Given the description of an element on the screen output the (x, y) to click on. 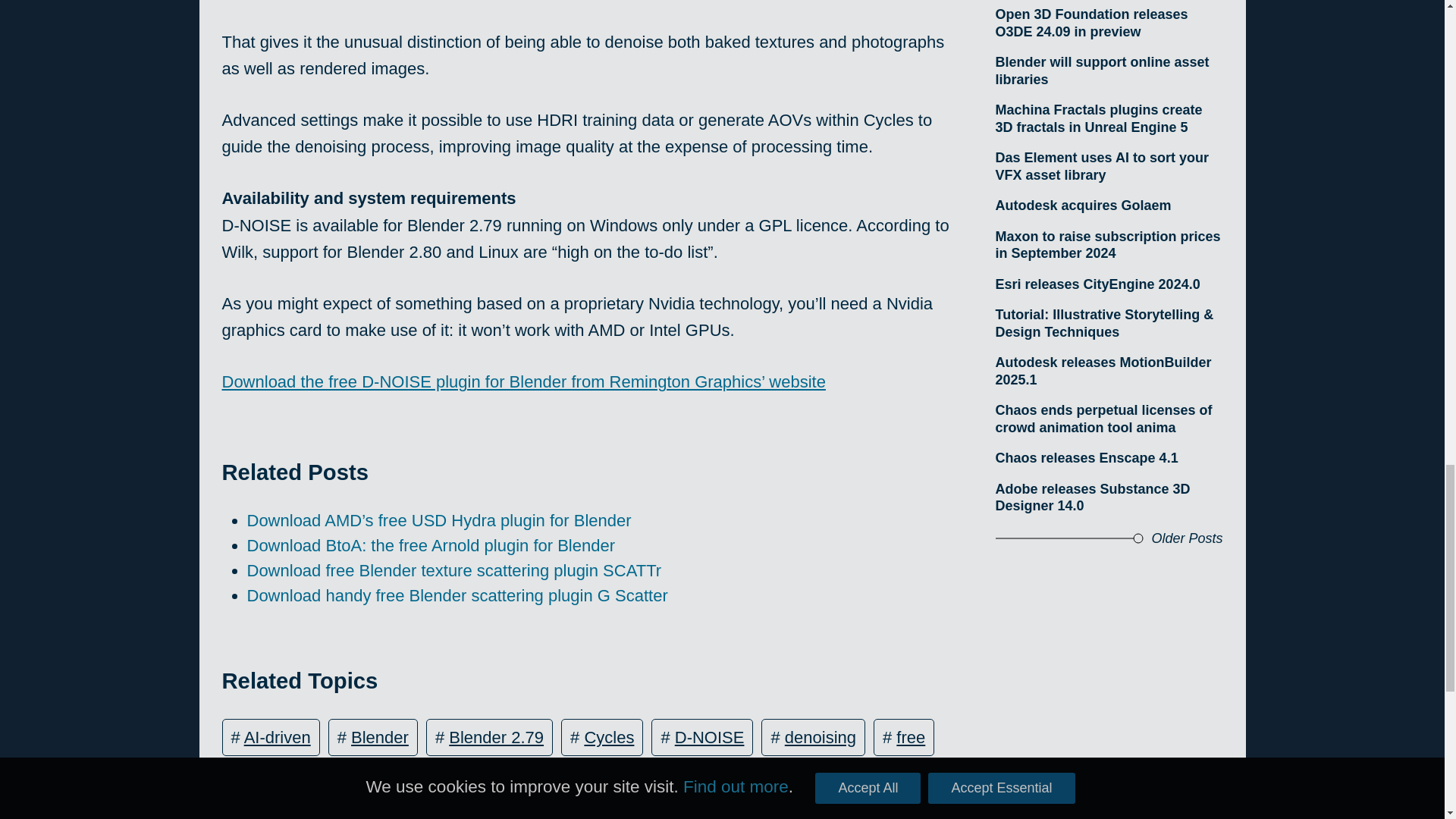
free (910, 737)
D-NOISE (709, 737)
Blender 2.79 (495, 737)
AI-driven (277, 737)
Download BtoA: the free Arnold plugin for Blender (431, 545)
Download free Blender texture scattering plugin SCATTr (454, 570)
Cycles (608, 737)
image editor (705, 778)
denoising (820, 737)
Blender (379, 737)
